Given the description of an element on the screen output the (x, y) to click on. 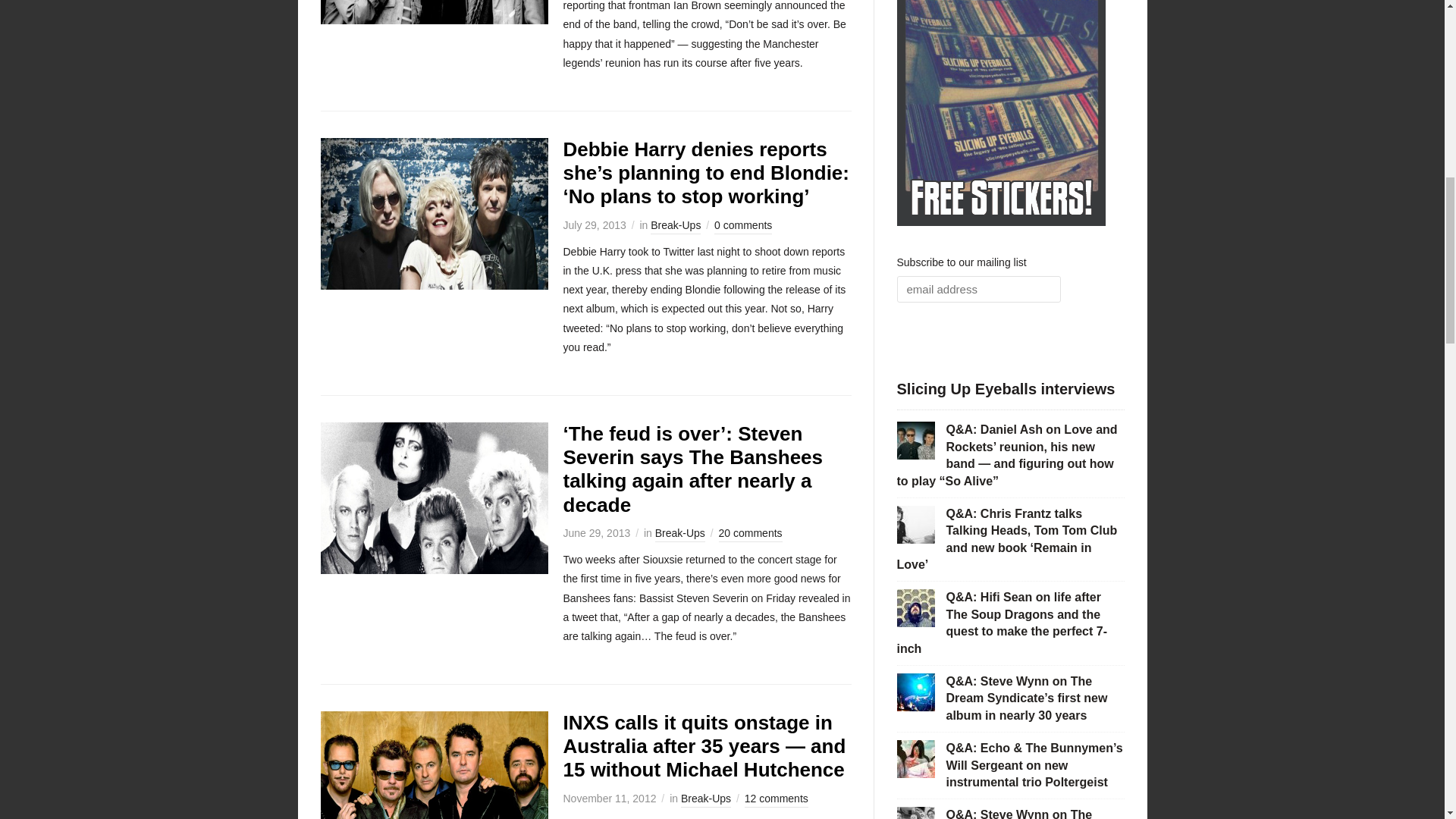
Break-Ups (679, 534)
20 comments (751, 534)
Break-Ups (705, 799)
0 comments (742, 225)
Break-Ups (675, 225)
12 comments (776, 799)
